Given the description of an element on the screen output the (x, y) to click on. 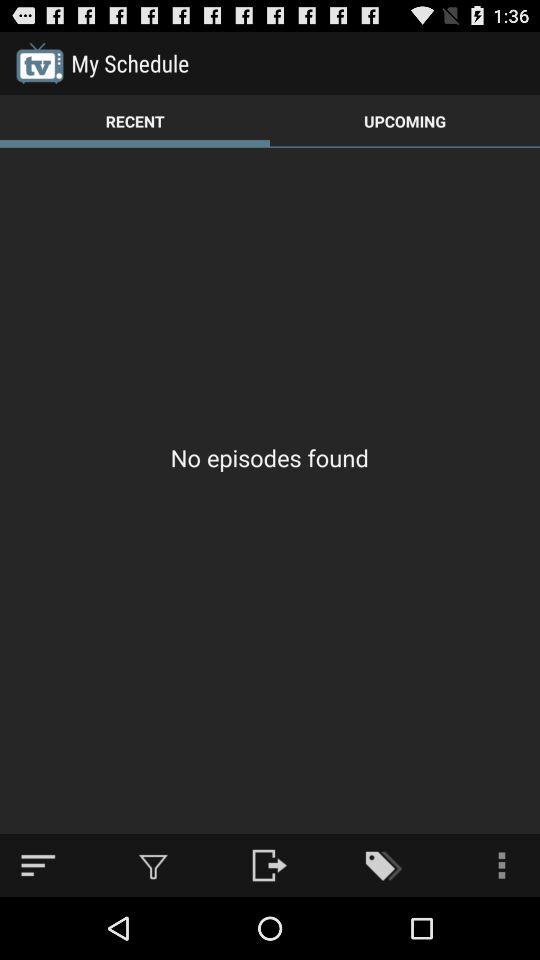
click the item to the left of the upcoming (135, 120)
